Given the description of an element on the screen output the (x, y) to click on. 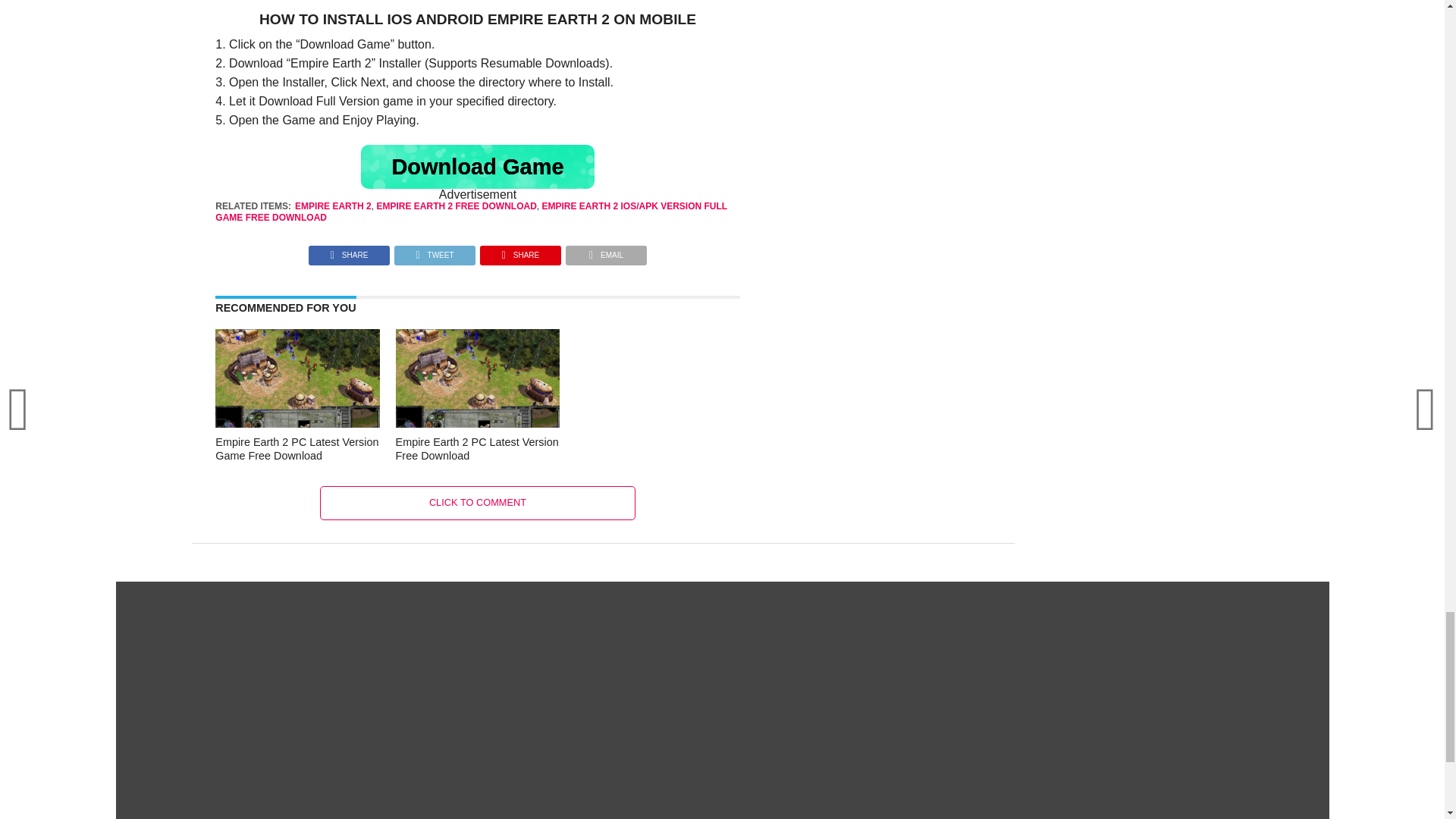
Download Game (477, 166)
SHARE (520, 250)
EMPIRE EARTH 2 (333, 205)
SHARE (349, 250)
EMPIRE EARTH 2 FREE DOWNLOAD (455, 205)
TWEET (434, 250)
EMAIL (605, 250)
Empire Earth 2 PC Latest Version Game Free Download (296, 448)
Empire Earth 2 PC Latest Version Free Download (477, 448)
